Given the description of an element on the screen output the (x, y) to click on. 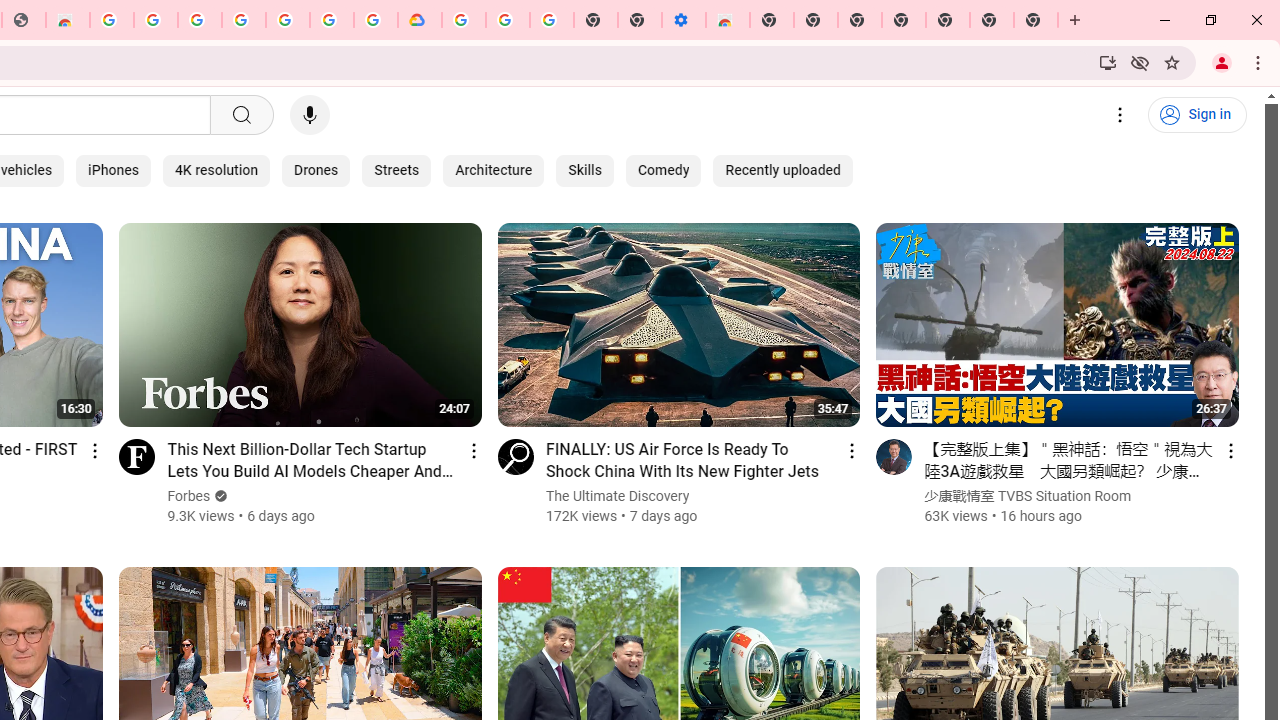
New Tab (771, 20)
Action menu (1229, 449)
The Ultimate Discovery (618, 496)
Sign in - Google Accounts (331, 20)
New Tab (947, 20)
Search with your voice (309, 115)
Chrome Web Store - Household (67, 20)
Go to channel (893, 456)
Turn cookies on or off - Computer - Google Account Help (551, 20)
Streets (397, 170)
iPhones (113, 170)
